Given the description of an element on the screen output the (x, y) to click on. 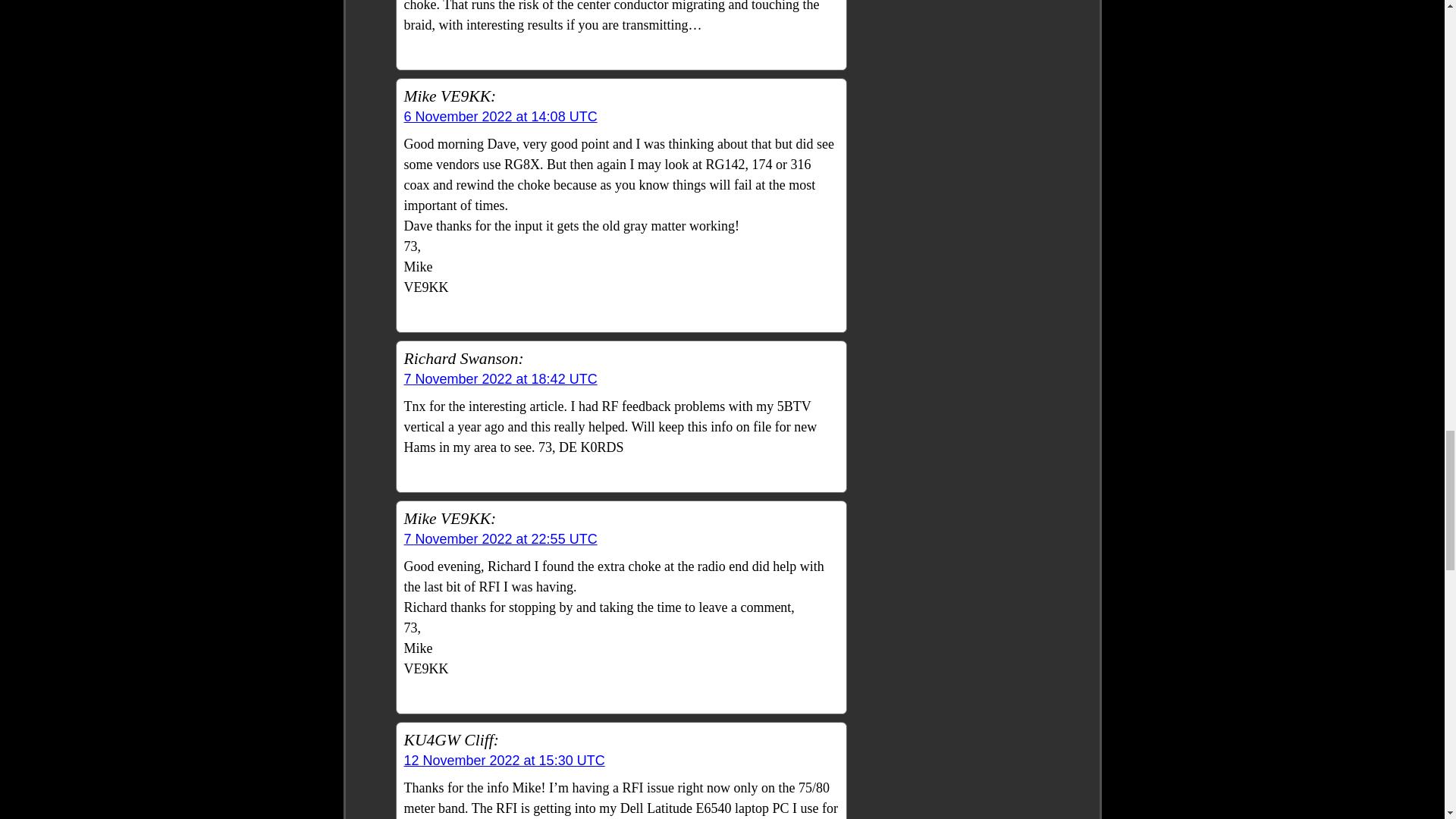
12 November 2022 at 15:30 UTC (503, 760)
7 November 2022 at 18:42 UTC (499, 378)
6 November 2022 at 14:08 UTC (499, 116)
7 November 2022 at 22:55 UTC (499, 539)
